Given the description of an element on the screen output the (x, y) to click on. 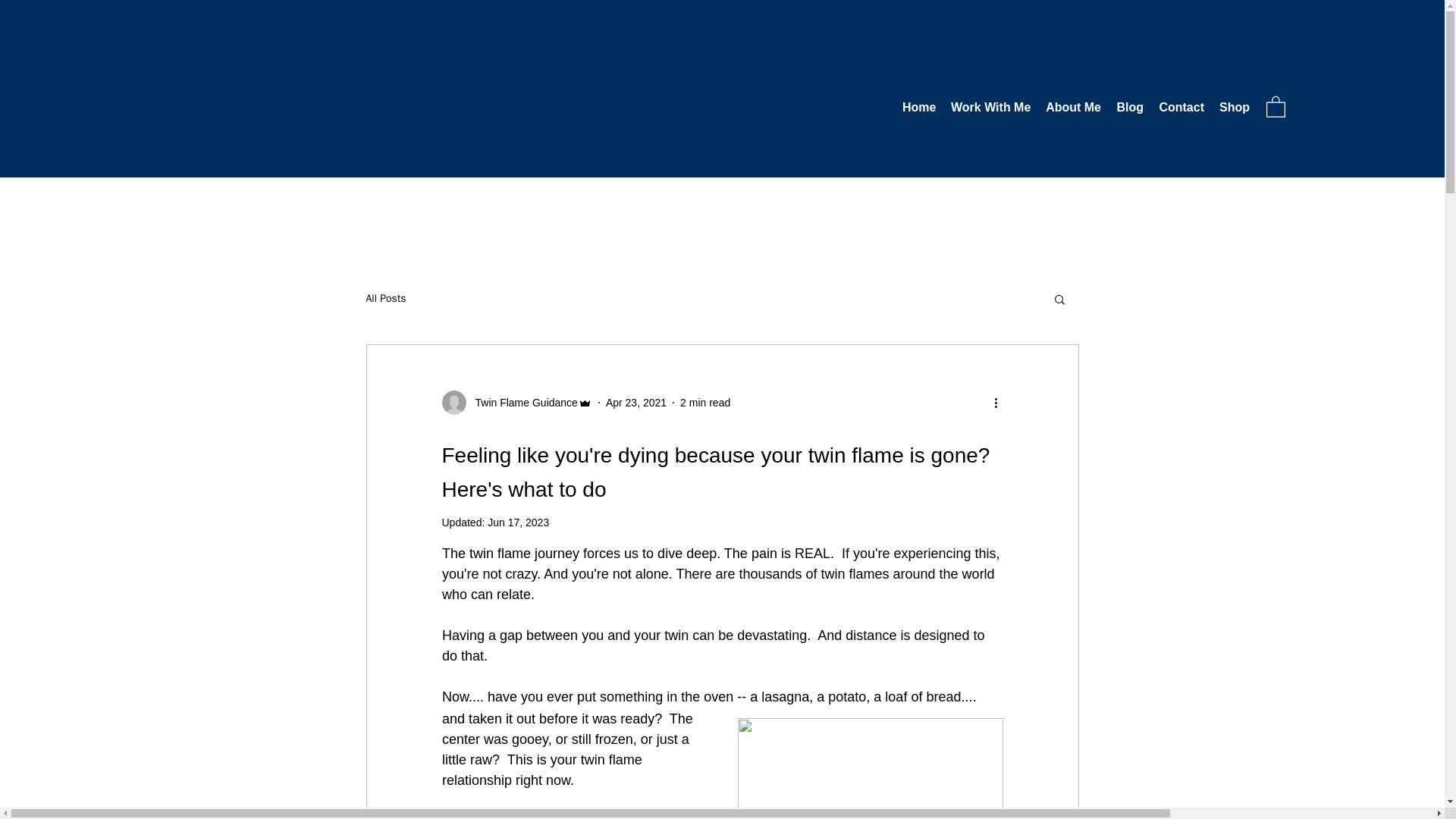
Twin Flame Guidance (516, 402)
Shop (1234, 107)
Jun 17, 2023 (517, 522)
All Posts (385, 298)
Work With Me (990, 107)
Apr 23, 2021 (635, 401)
Home (919, 107)
Contact (1181, 107)
About Me (1073, 107)
Blog (1129, 107)
